Given the description of an element on the screen output the (x, y) to click on. 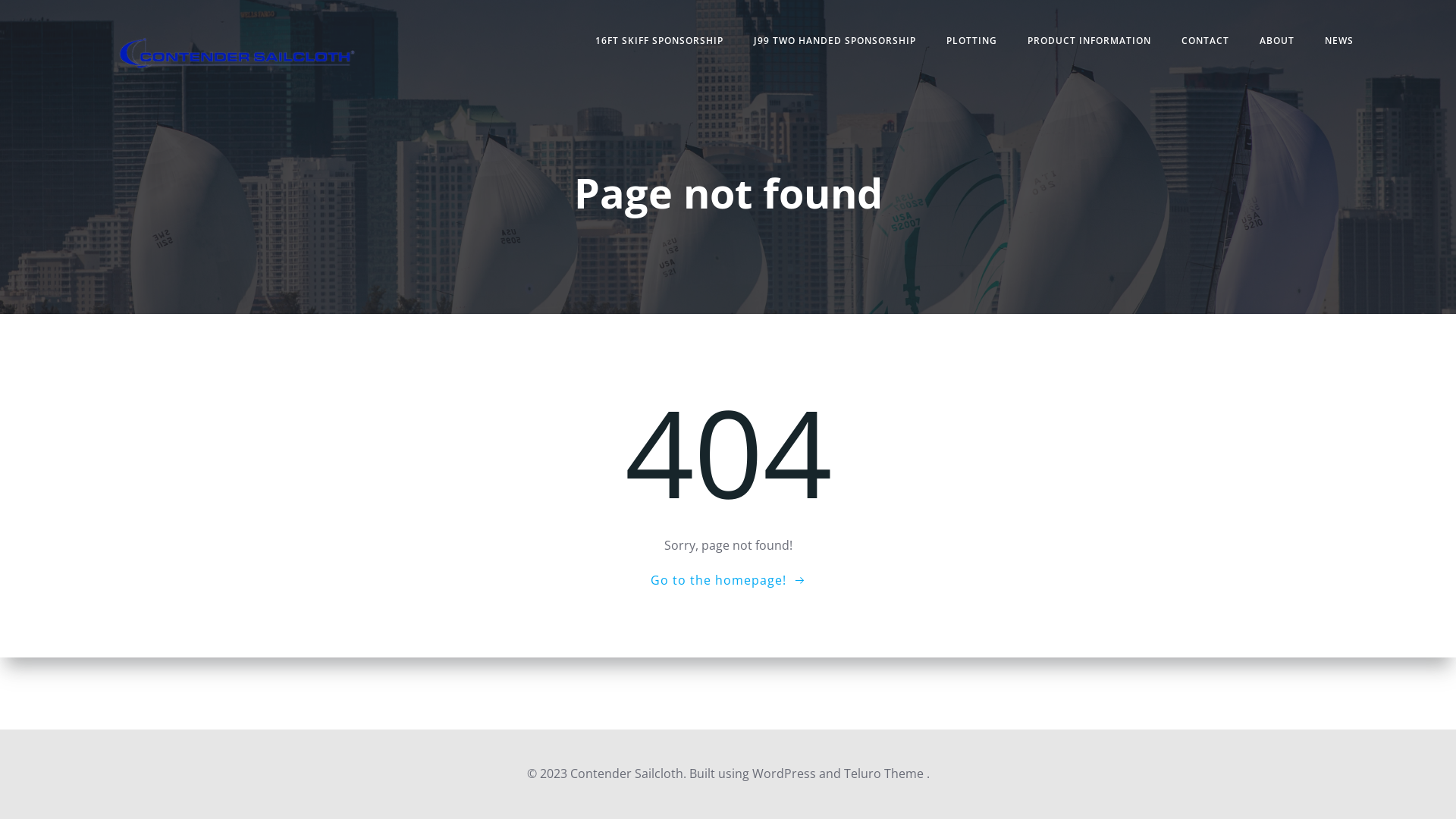
ABOUT Element type: text (1276, 40)
CONTACT Element type: text (1205, 40)
J99 TWO HANDED SPONSORSHIP Element type: text (834, 40)
16FT SKIFF SPONSORSHIP Element type: text (659, 40)
NEWS Element type: text (1338, 40)
PRODUCT INFORMATION Element type: text (1089, 40)
PLOTTING Element type: text (971, 40)
Go to the homepage! Element type: text (728, 579)
